Given the description of an element on the screen output the (x, y) to click on. 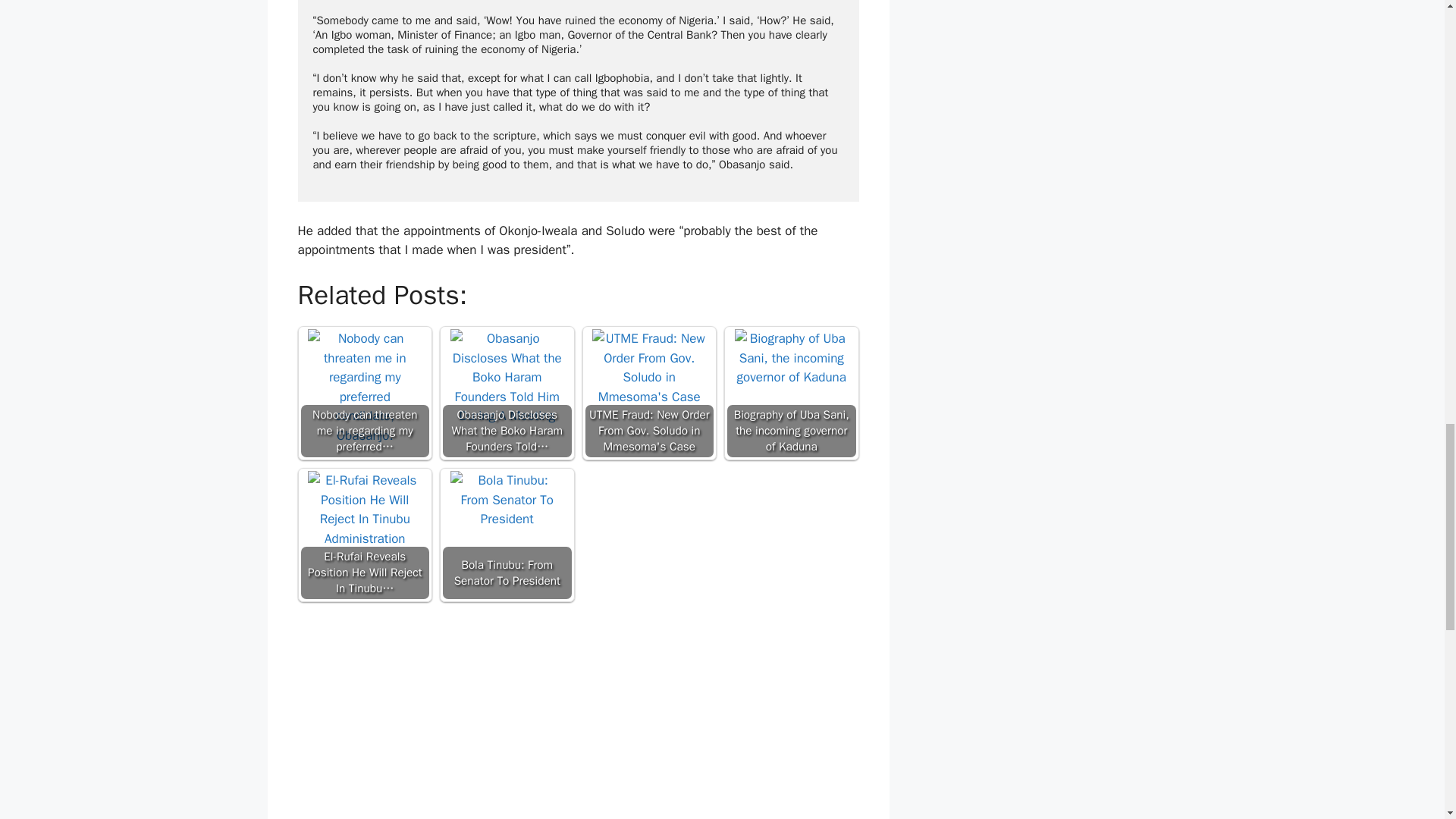
Advertisement (578, 714)
Bola Tinubu: From Senator To President (506, 527)
UTME Fraud: New Order From Gov. Soludo in Mmesoma's Case (649, 386)
UTME Fraud: New Order From Gov. Soludo in Mmesoma's Case (649, 392)
Biography of Uba Sani, the incoming governor of Kaduna (792, 392)
Bola Tinubu: From Senator To President (507, 534)
Biography of Uba Sani, the incoming governor of Kaduna (791, 386)
